Given the description of an element on the screen output the (x, y) to click on. 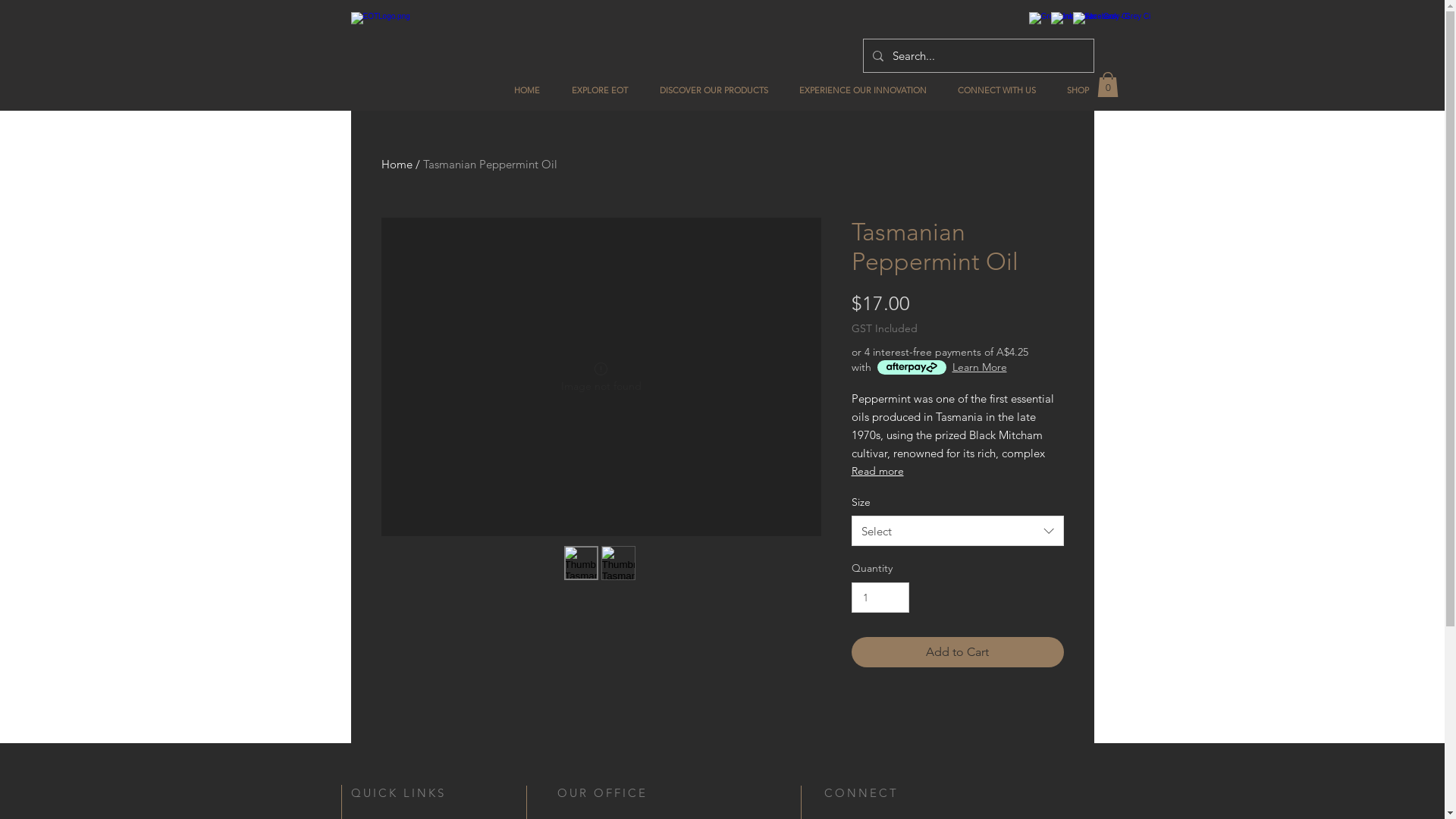
0 Element type: text (1106, 84)
Learn More Element type: text (979, 366)
DISCOVER OUR PRODUCTS Element type: text (713, 89)
CONNECT WITH US Element type: text (996, 89)
SHOP Element type: text (1077, 89)
Select Element type: text (956, 530)
Read more Element type: text (956, 470)
EXPLORE EOT Element type: text (599, 89)
EXPERIENCE OUR INNOVATION Element type: text (863, 89)
Tasmanian Peppermint Oil Element type: text (490, 163)
Home Element type: text (395, 163)
HOME Element type: text (526, 89)
Add to Cart Element type: text (956, 652)
